Given the description of an element on the screen output the (x, y) to click on. 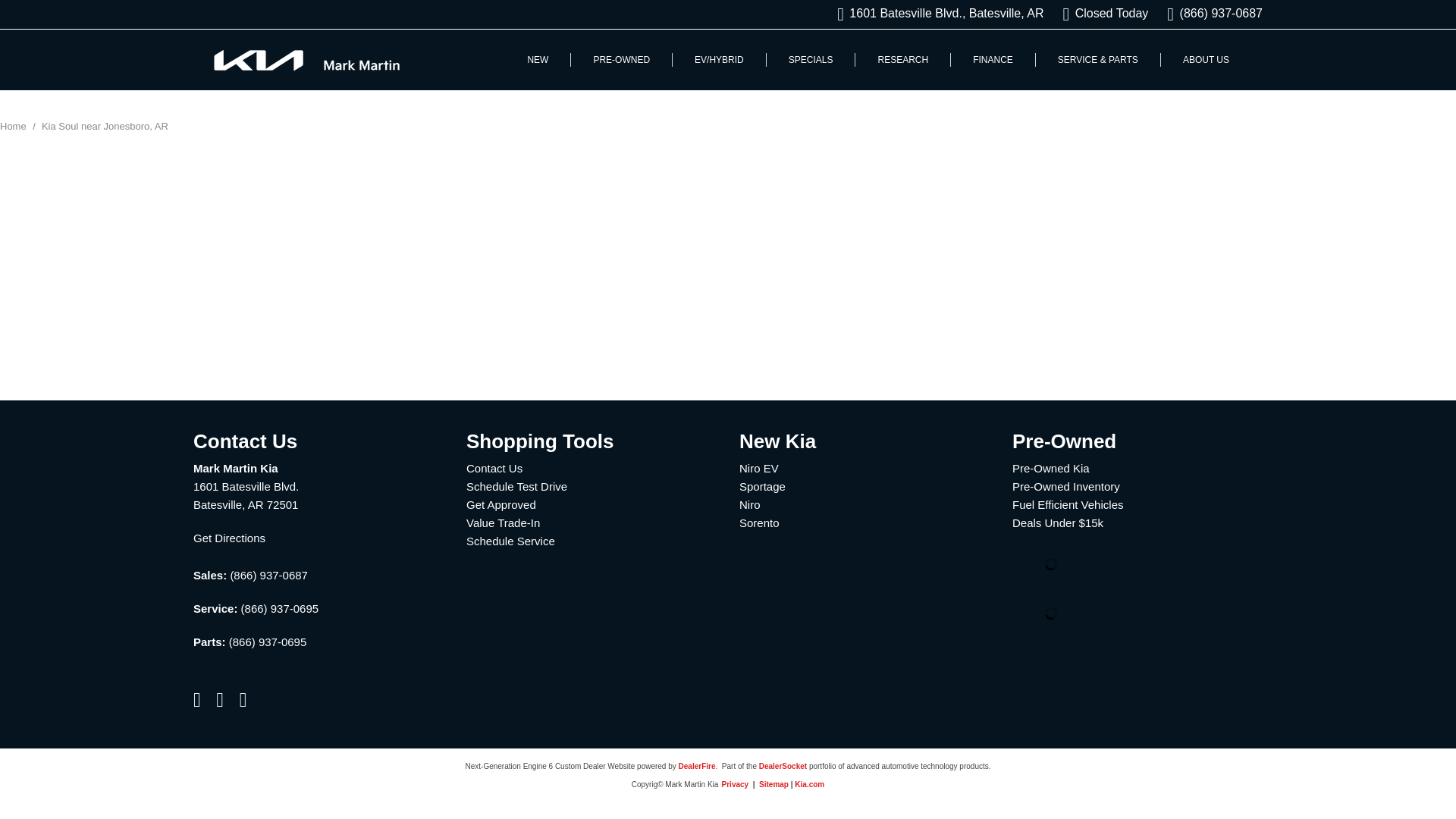
1601 Batesville Blvd., Batesville, AR (940, 14)
PRE-OWNED (621, 59)
SPECIALS (810, 59)
NEW (536, 59)
RESEARCH (902, 59)
Mark Martin Kia (306, 60)
Closed Today (1105, 14)
